Given the description of an element on the screen output the (x, y) to click on. 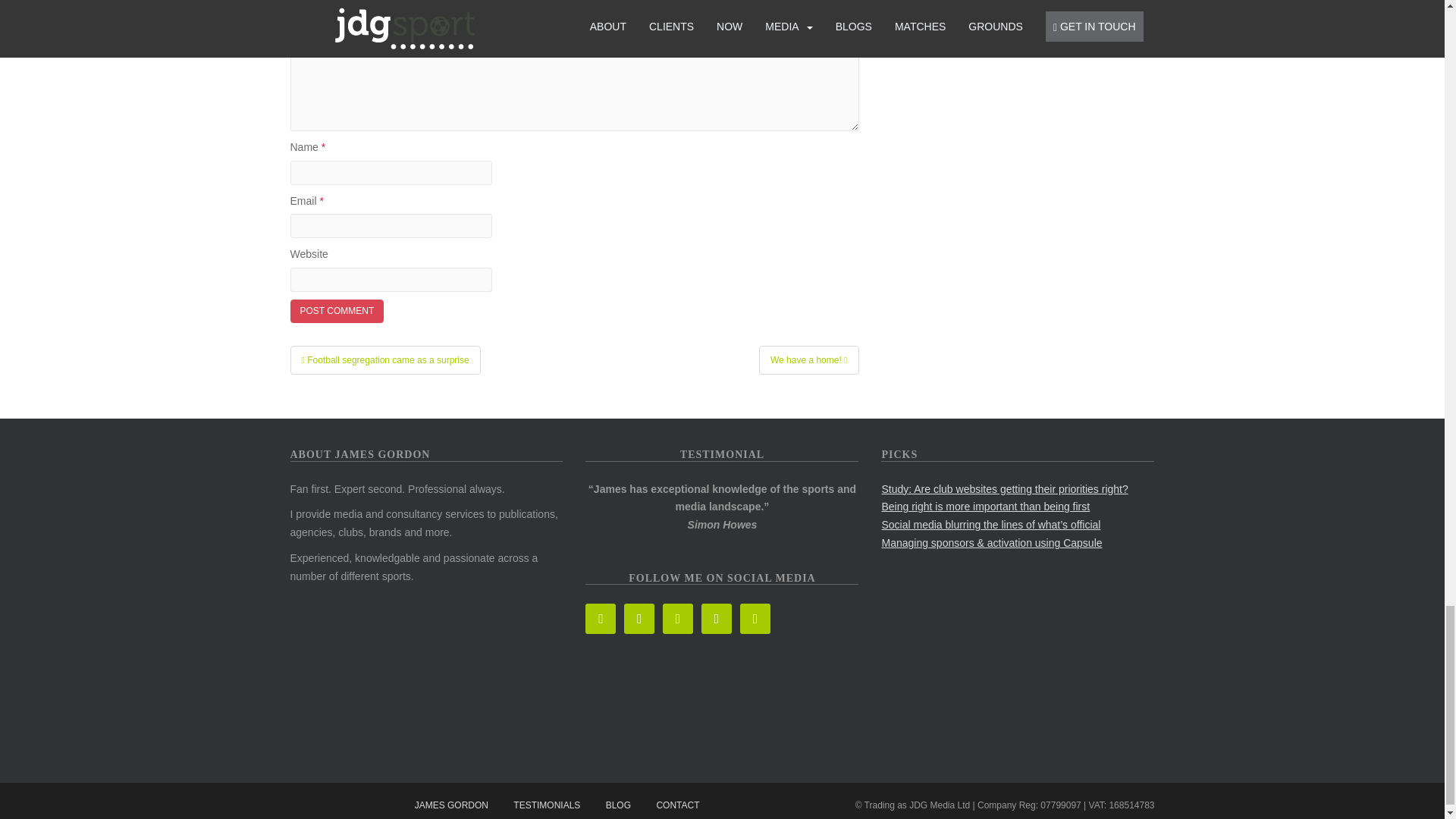
We have a home! (808, 359)
Post Comment (336, 310)
Football segregation came as a surprise (384, 359)
Post Comment (336, 310)
